Given the description of an element on the screen output the (x, y) to click on. 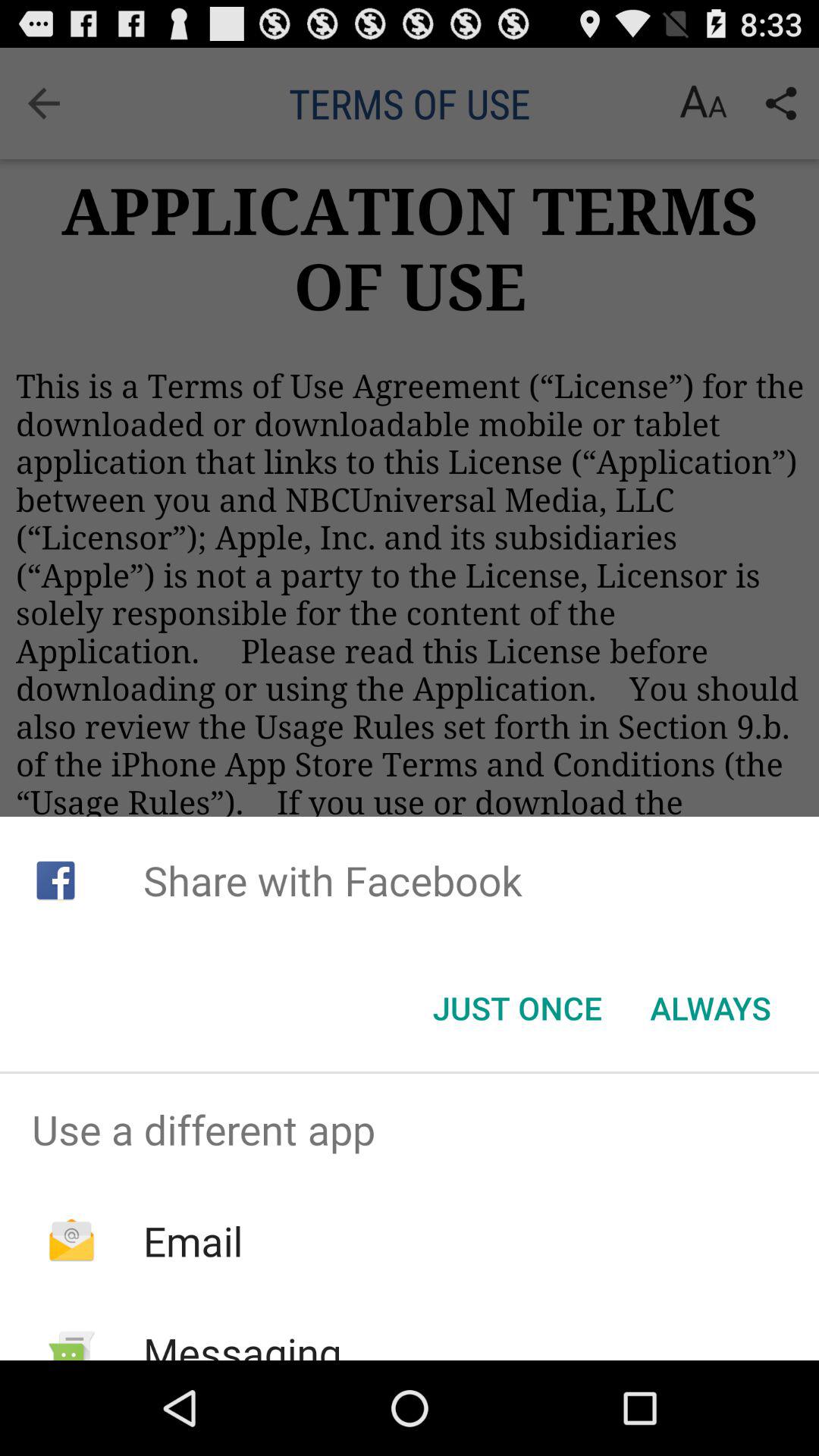
scroll until use a different item (409, 1129)
